Given the description of an element on the screen output the (x, y) to click on. 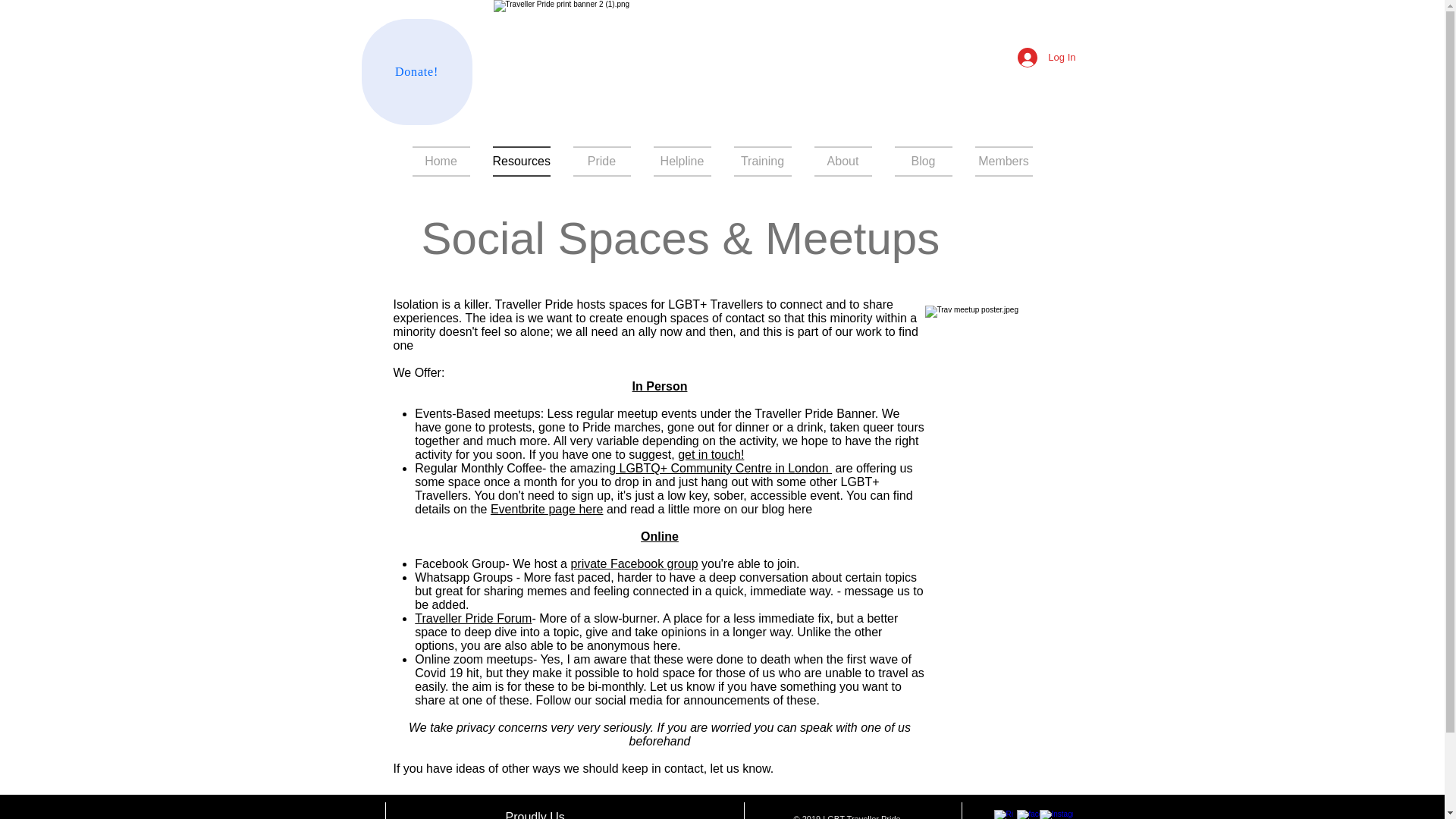
Traveller Pride Forum (472, 617)
Home (440, 161)
private Facebook group (633, 563)
Pride (601, 161)
Members (1002, 161)
Training (762, 161)
Resources (520, 161)
Log In (1046, 57)
get in touch! (711, 454)
Blog (922, 161)
